Given the description of an element on the screen output the (x, y) to click on. 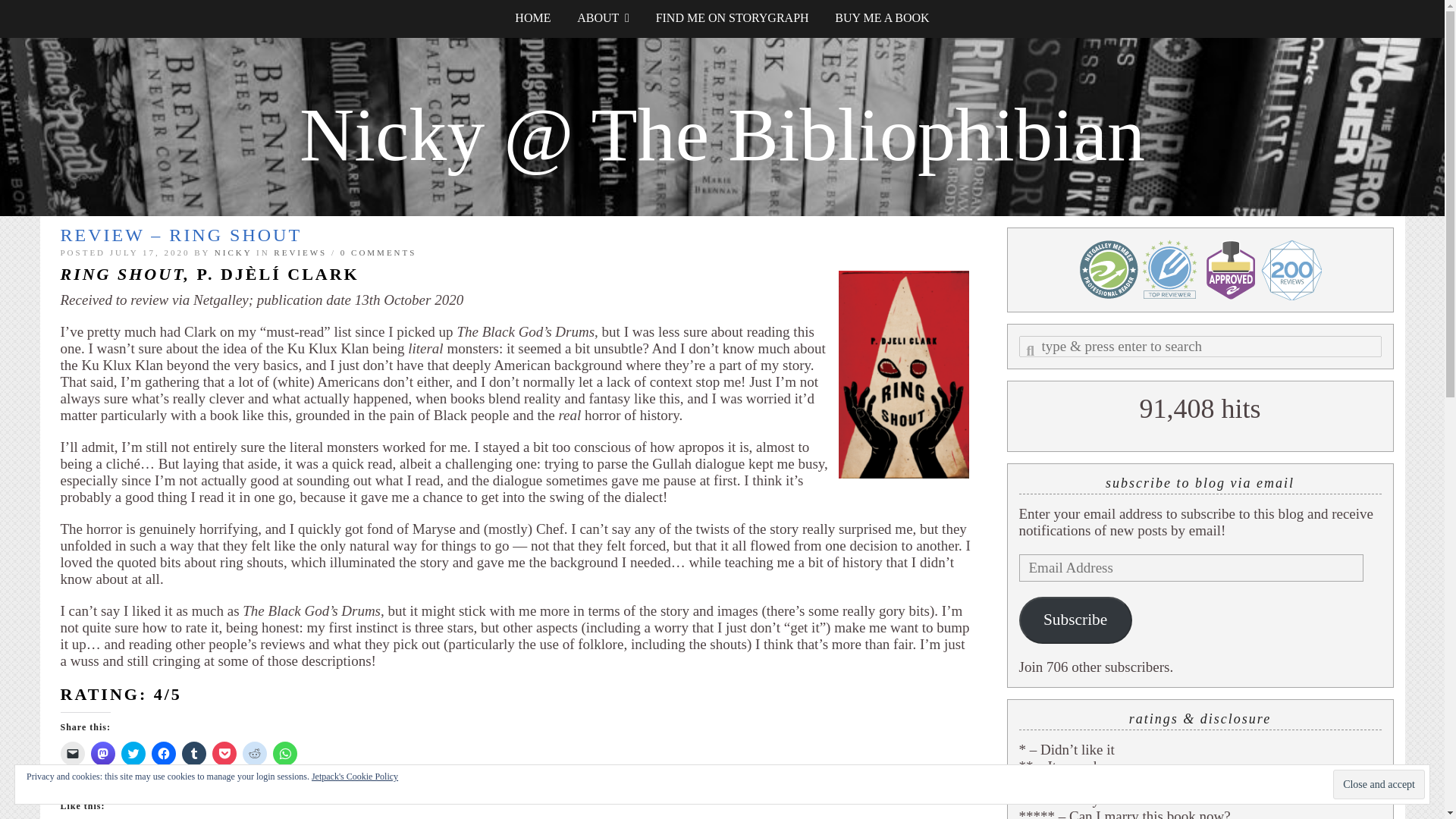
BUY ME A BOOK (882, 18)
FIND ME ON STORYGRAPH (733, 18)
HOME (532, 18)
Click to share on Reddit (254, 753)
Click to share on Tumblr (194, 753)
Close and accept (1379, 784)
Click to share on Pocket (223, 753)
Click to email a link to a friend (72, 753)
Professional Reader (1108, 269)
Click to share on Mastodon (102, 753)
Click to share on Facebook (163, 753)
0 COMMENTS (378, 252)
Reviews Published (1168, 269)
ABOUT   (603, 18)
NICKY (232, 252)
